Given the description of an element on the screen output the (x, y) to click on. 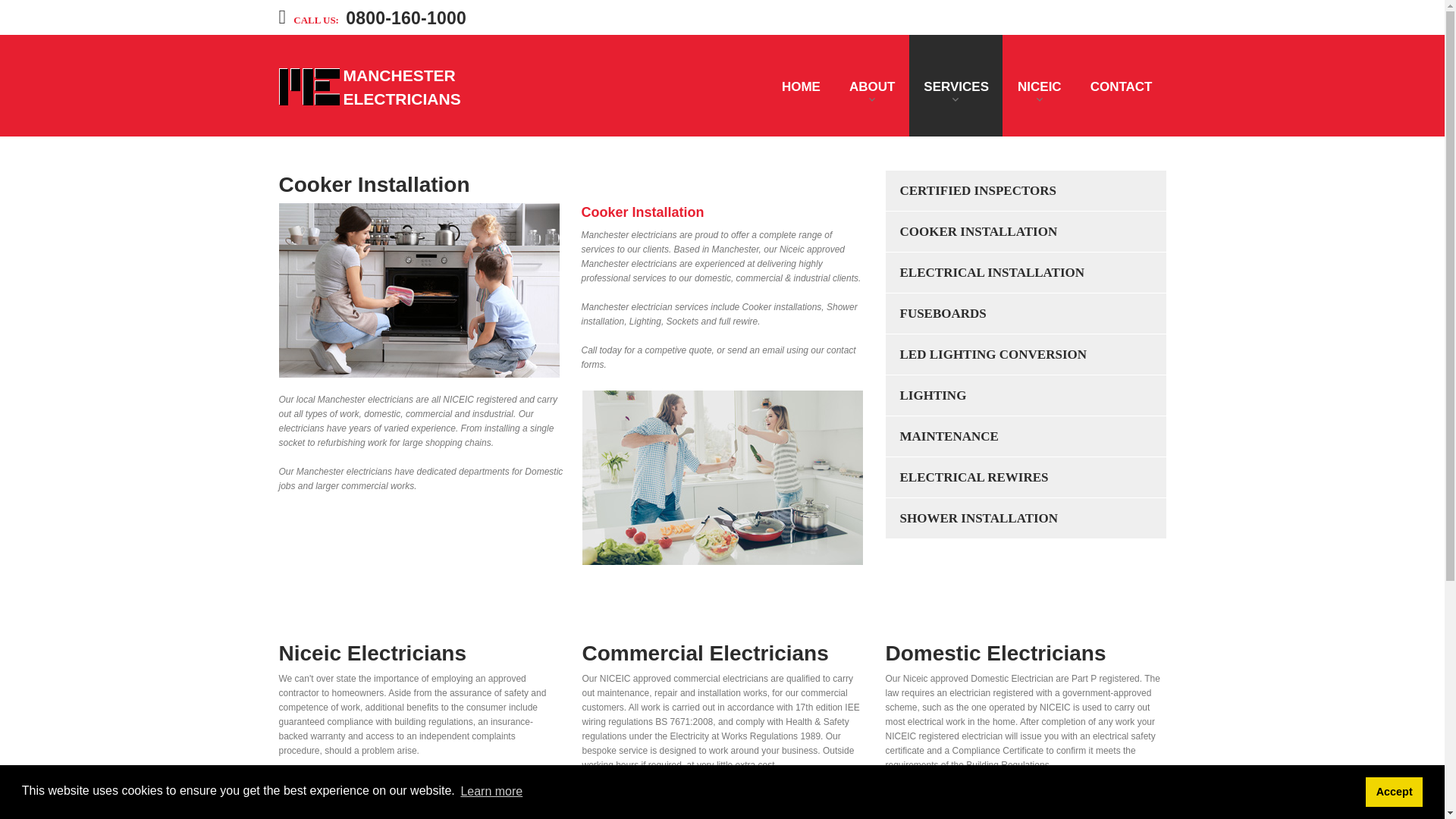
Accept (1393, 791)
0800-160-1000 (405, 17)
Learn more (491, 791)
SERVICES (955, 85)
